Given the description of an element on the screen output the (x, y) to click on. 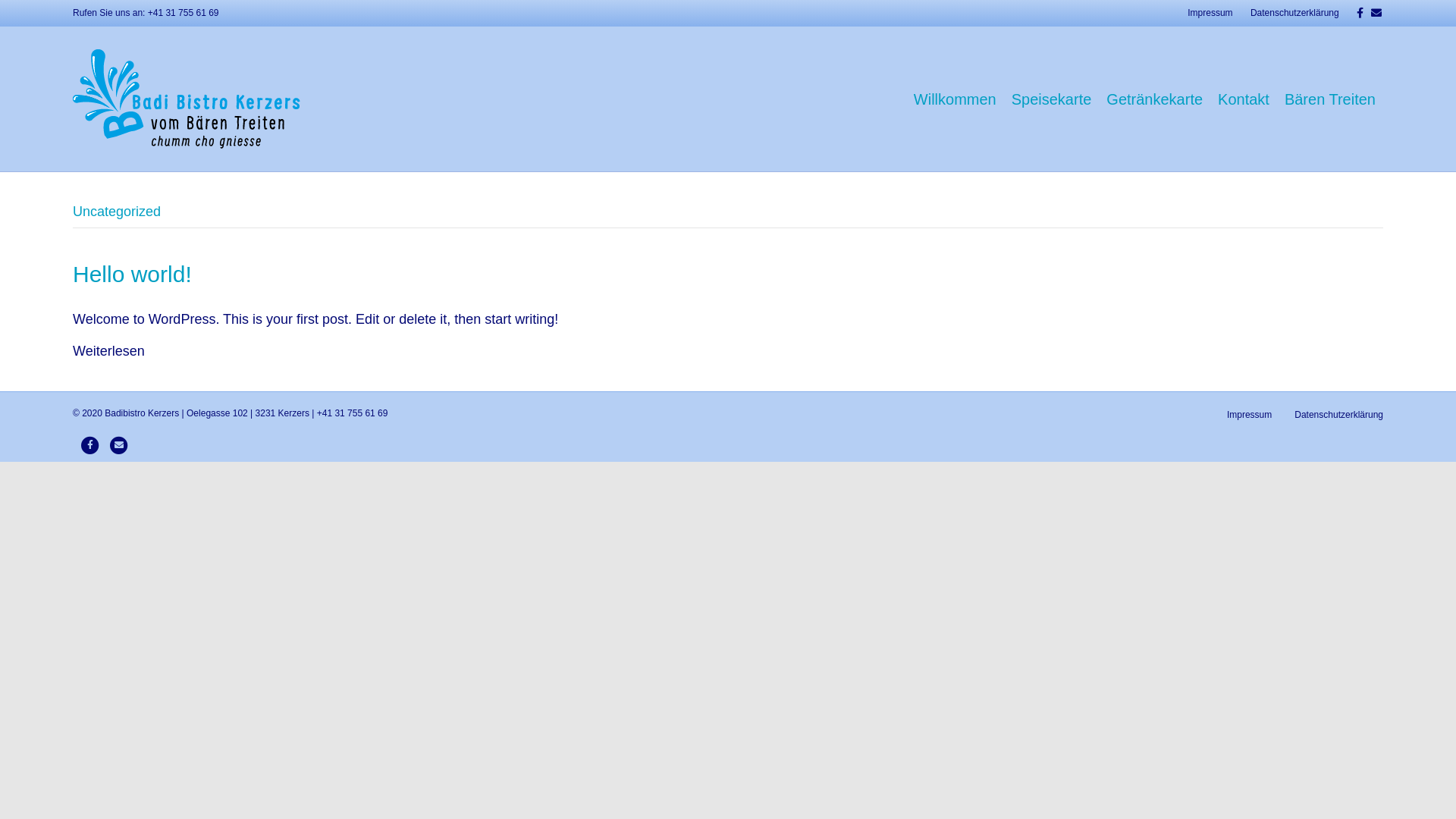
Willkommen Element type: text (955, 99)
Facebook Element type: text (89, 445)
Kontakt Element type: text (1243, 99)
Hello world! Element type: text (131, 273)
Facebook Element type: text (1354, 11)
Impressum Element type: text (1209, 12)
Email Element type: text (118, 445)
Impressum Element type: text (1249, 420)
Weiterlesen Element type: text (108, 350)
Email Element type: text (1372, 11)
Speisekarte Element type: text (1051, 99)
